Given the description of an element on the screen output the (x, y) to click on. 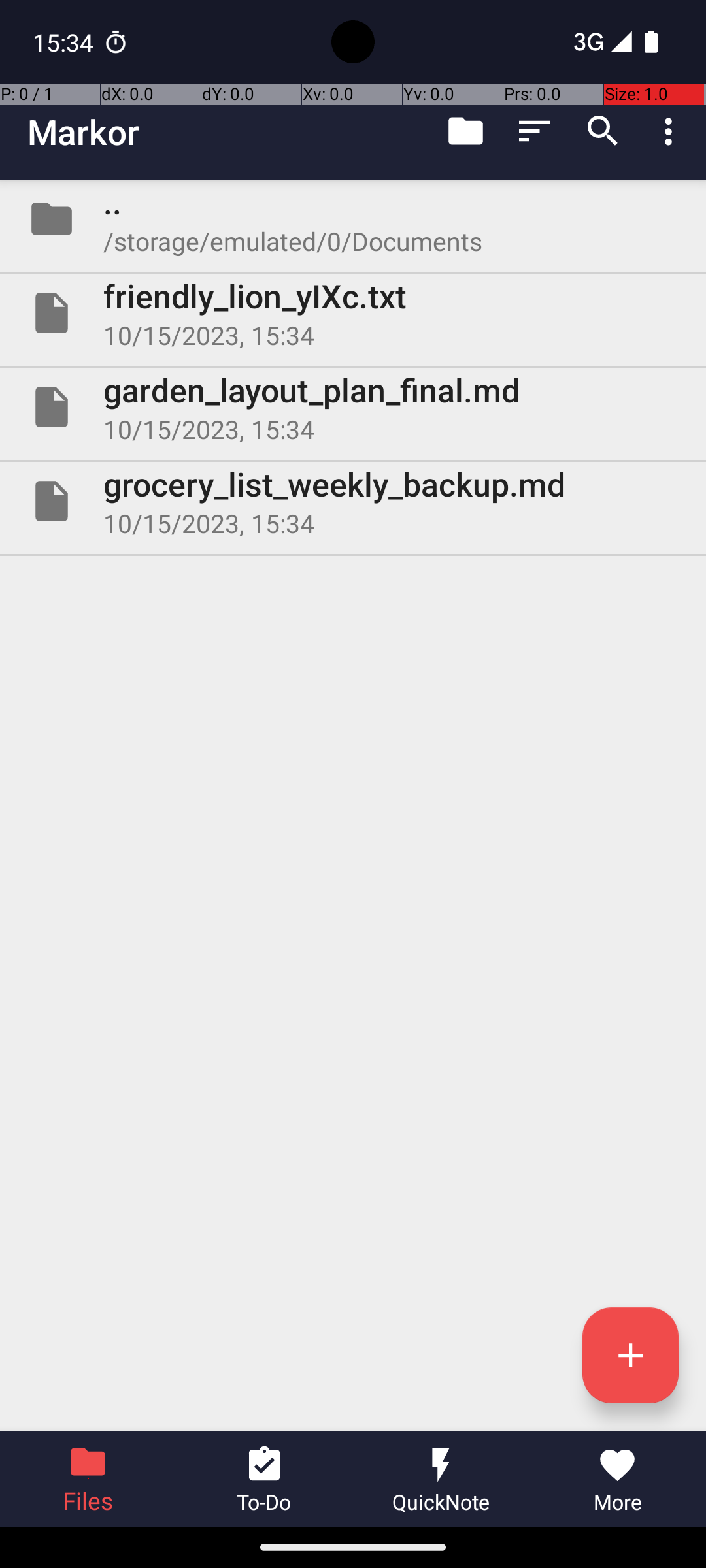
File friendly_lion_yIXc.txt  Element type: android.widget.LinearLayout (353, 312)
File garden_layout_plan_final.md  Element type: android.widget.LinearLayout (353, 406)
File grocery_list_weekly_backup.md  Element type: android.widget.LinearLayout (353, 500)
